Given the description of an element on the screen output the (x, y) to click on. 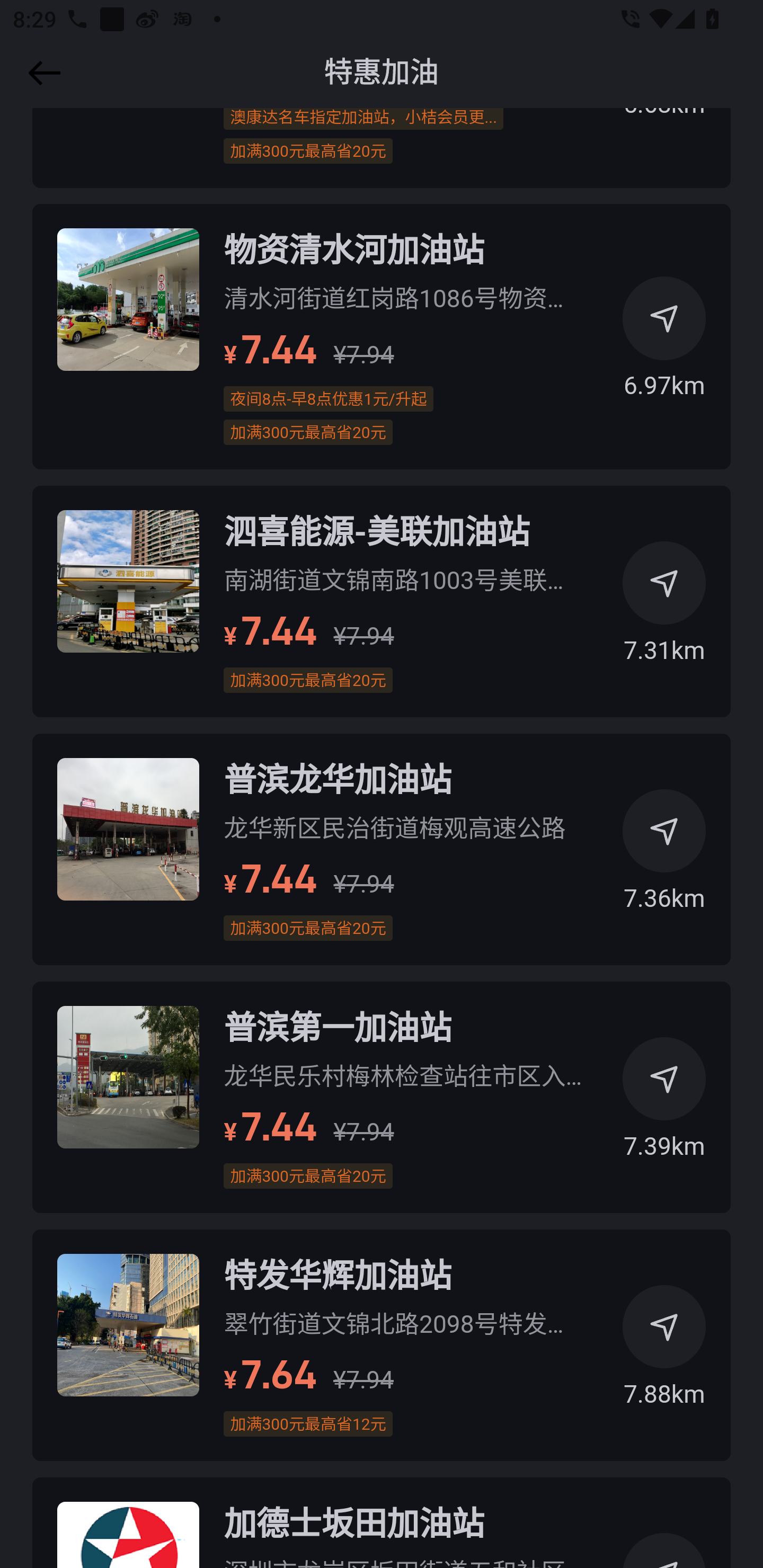
特惠加油 (381, 73)
